Given the description of an element on the screen output the (x, y) to click on. 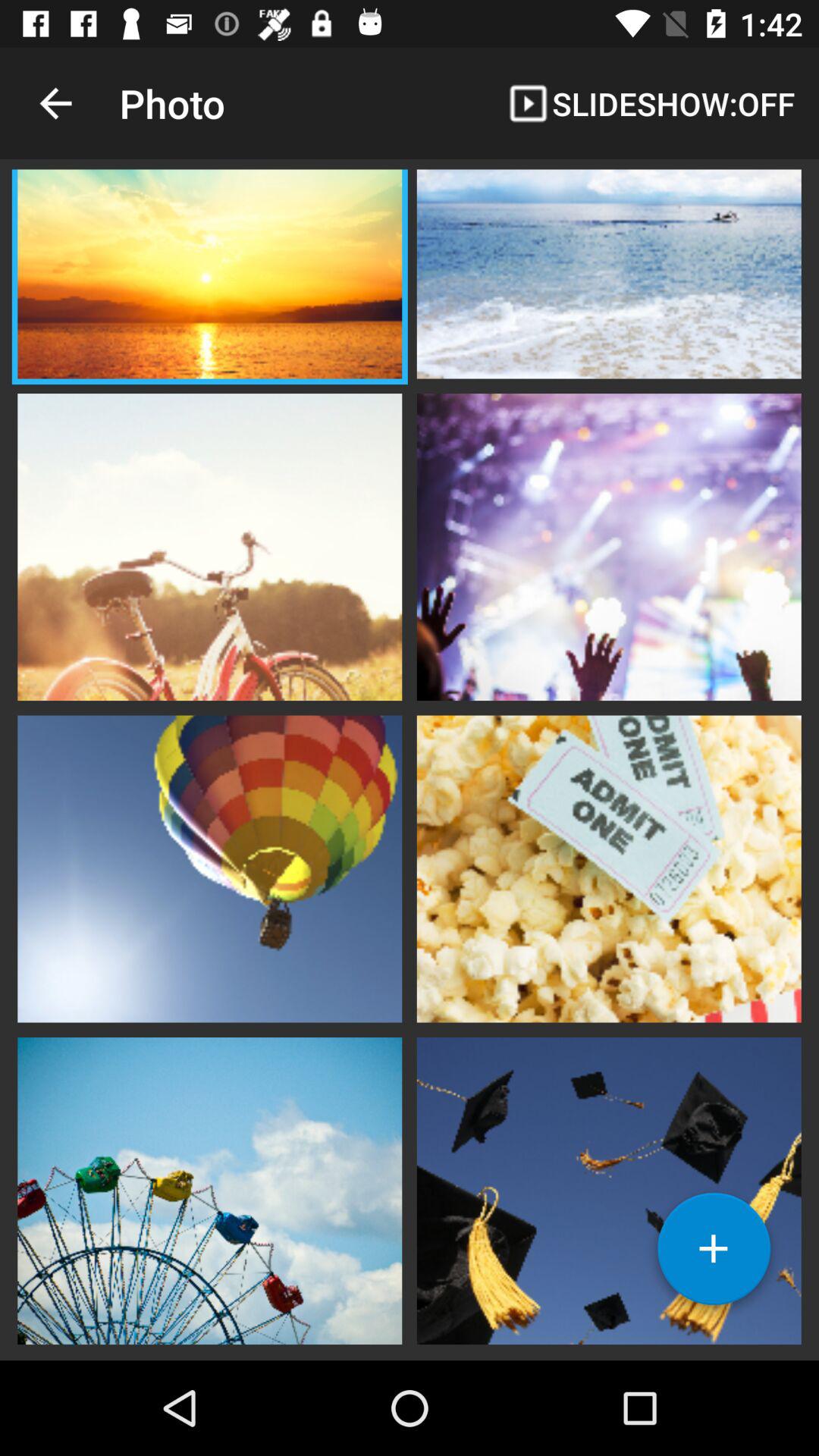
add a photo (713, 1254)
